Given the description of an element on the screen output the (x, y) to click on. 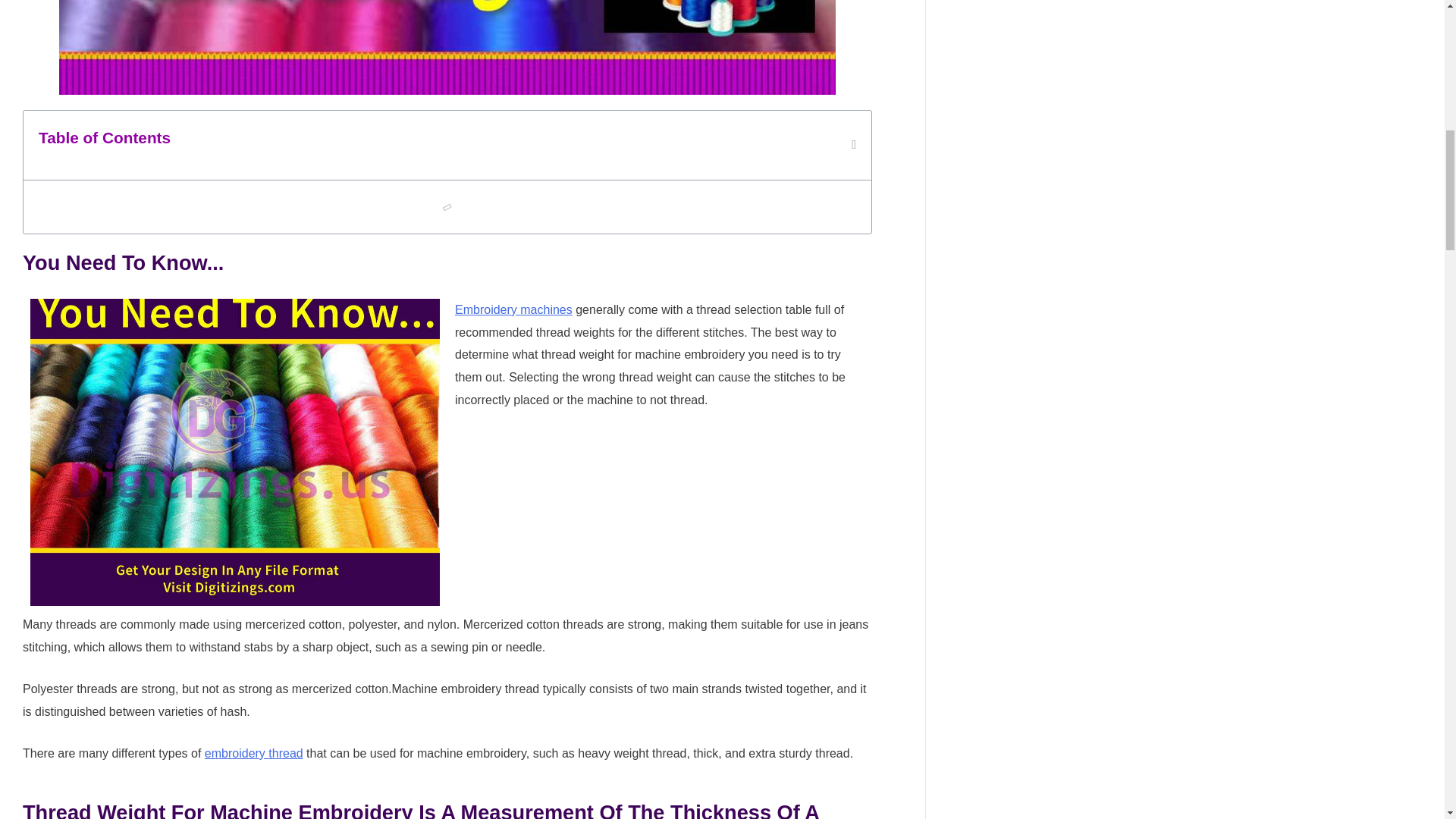
Embroidery machines (513, 309)
embroidery thread (253, 753)
